Given the description of an element on the screen output the (x, y) to click on. 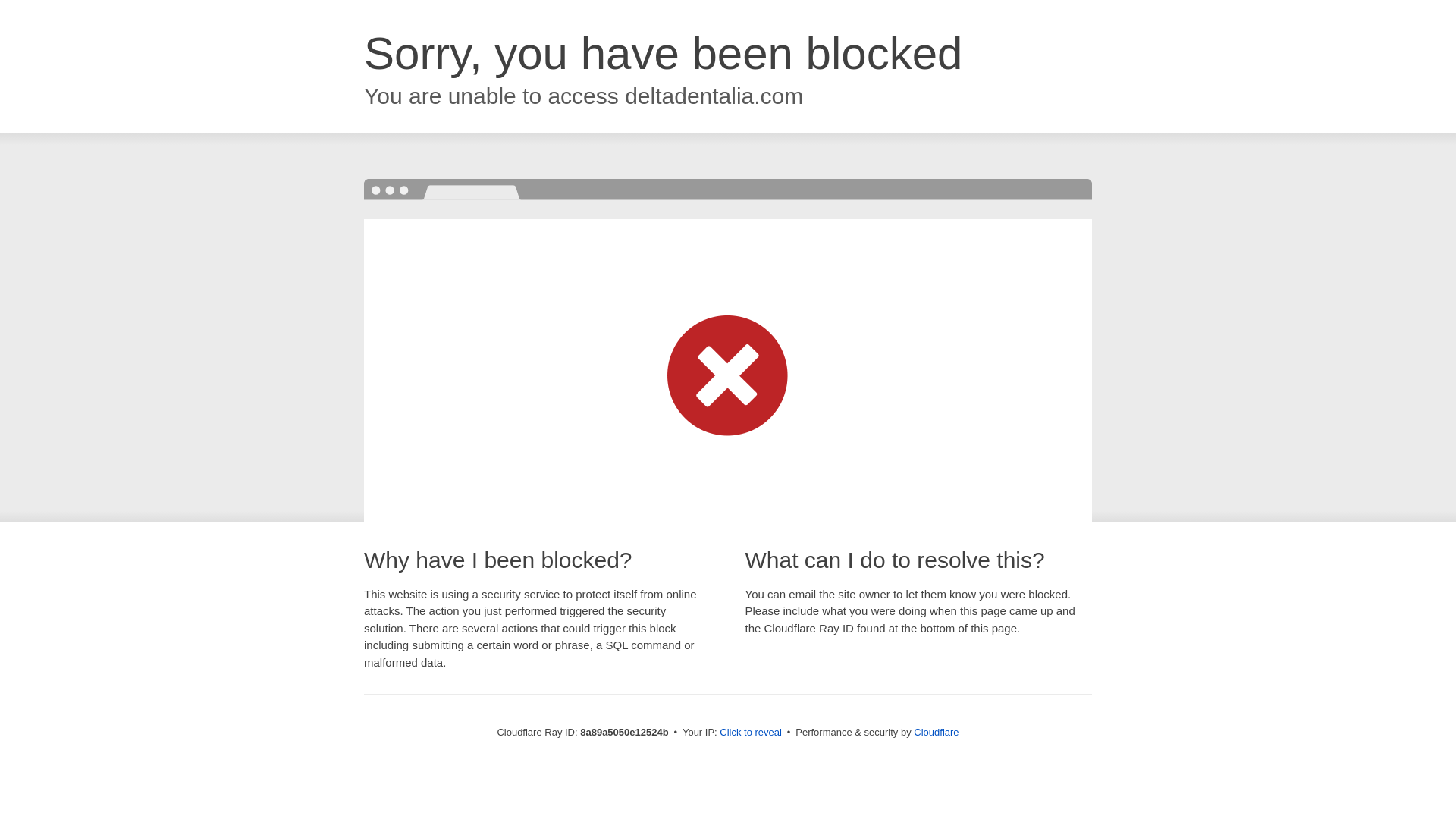
Cloudflare (936, 731)
Click to reveal (750, 732)
